Given the description of an element on the screen output the (x, y) to click on. 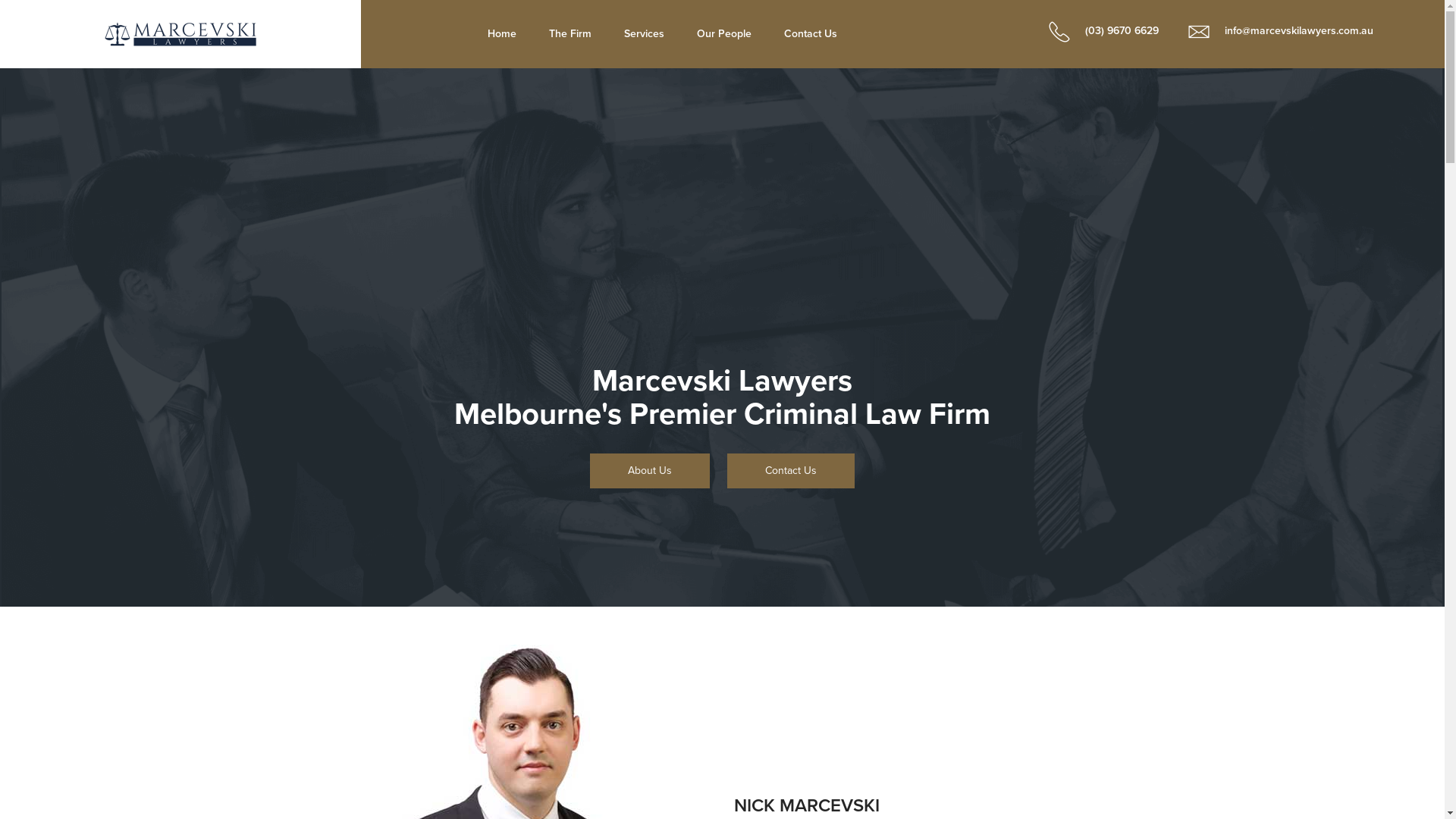
(03) 9670 6629 Element type: text (1095, 30)
Home Element type: text (501, 34)
About Us Element type: text (649, 470)
Contact Us Element type: text (810, 34)
The Firm Element type: text (569, 34)
Contact Us Element type: text (790, 470)
Services Element type: text (643, 34)
Our People Element type: text (723, 34)
info@marcevskilawyers.com.au Element type: text (1273, 30)
